Given the description of an element on the screen output the (x, y) to click on. 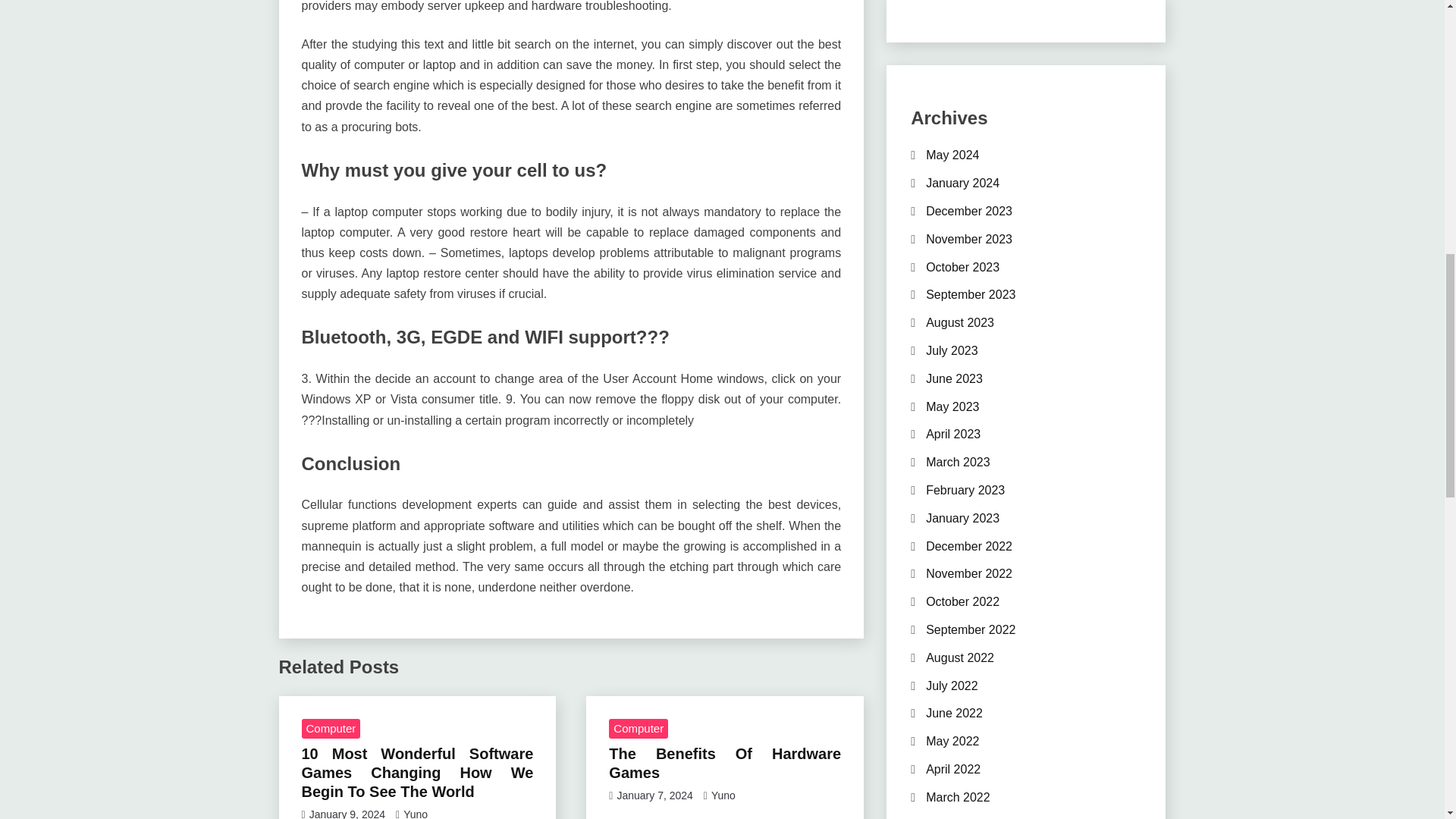
Yuno (415, 813)
October 2023 (962, 267)
January 2024 (962, 182)
Computer (638, 728)
Yuno (723, 795)
Computer (331, 728)
January 7, 2024 (654, 795)
May 2024 (952, 154)
The Benefits Of Hardware Games (724, 763)
